Given the description of an element on the screen output the (x, y) to click on. 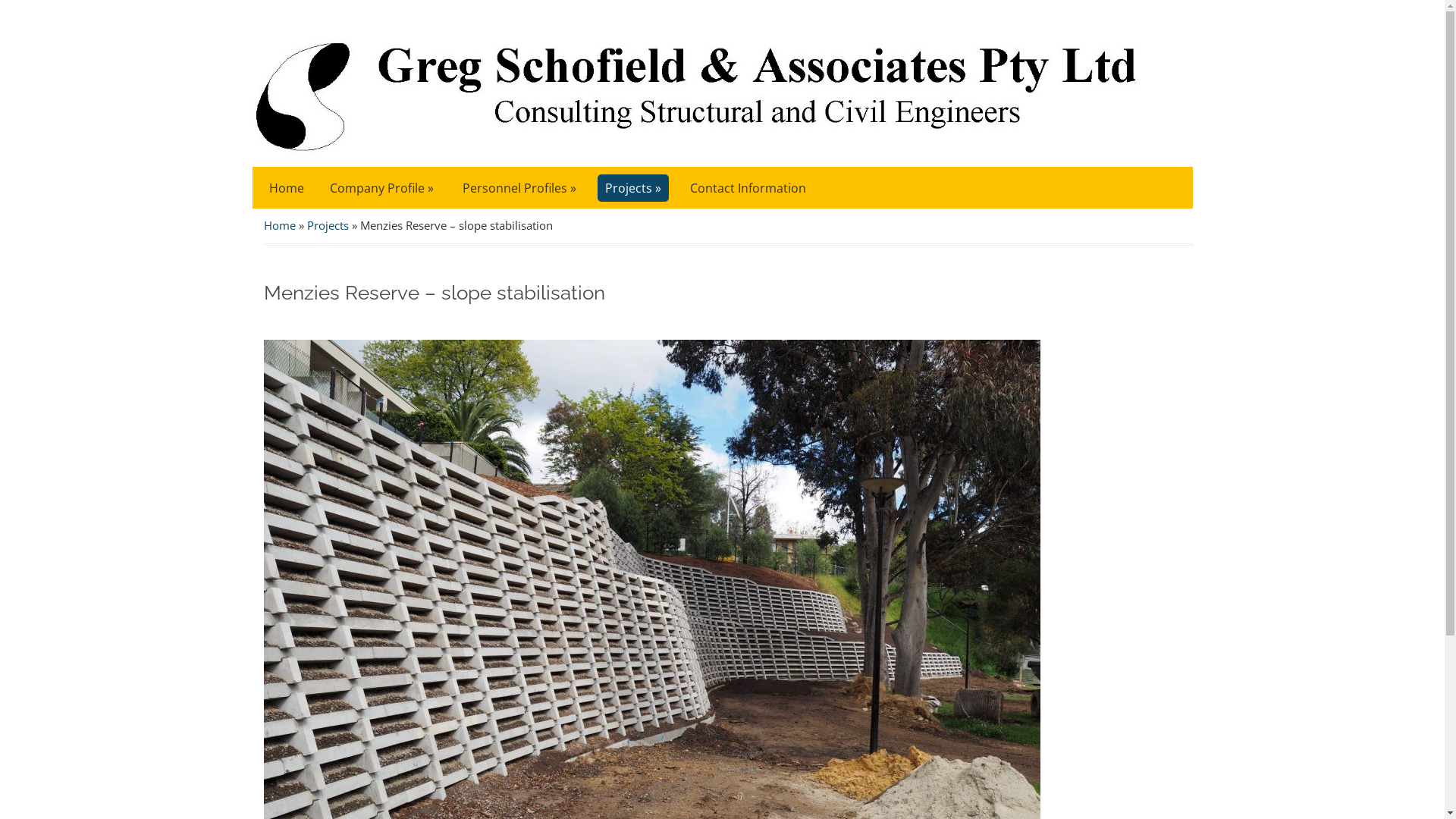
Projects Element type: text (327, 224)
Home Element type: text (285, 187)
Contact Information Element type: text (747, 187)
Home Element type: text (279, 224)
